Given the description of an element on the screen output the (x, y) to click on. 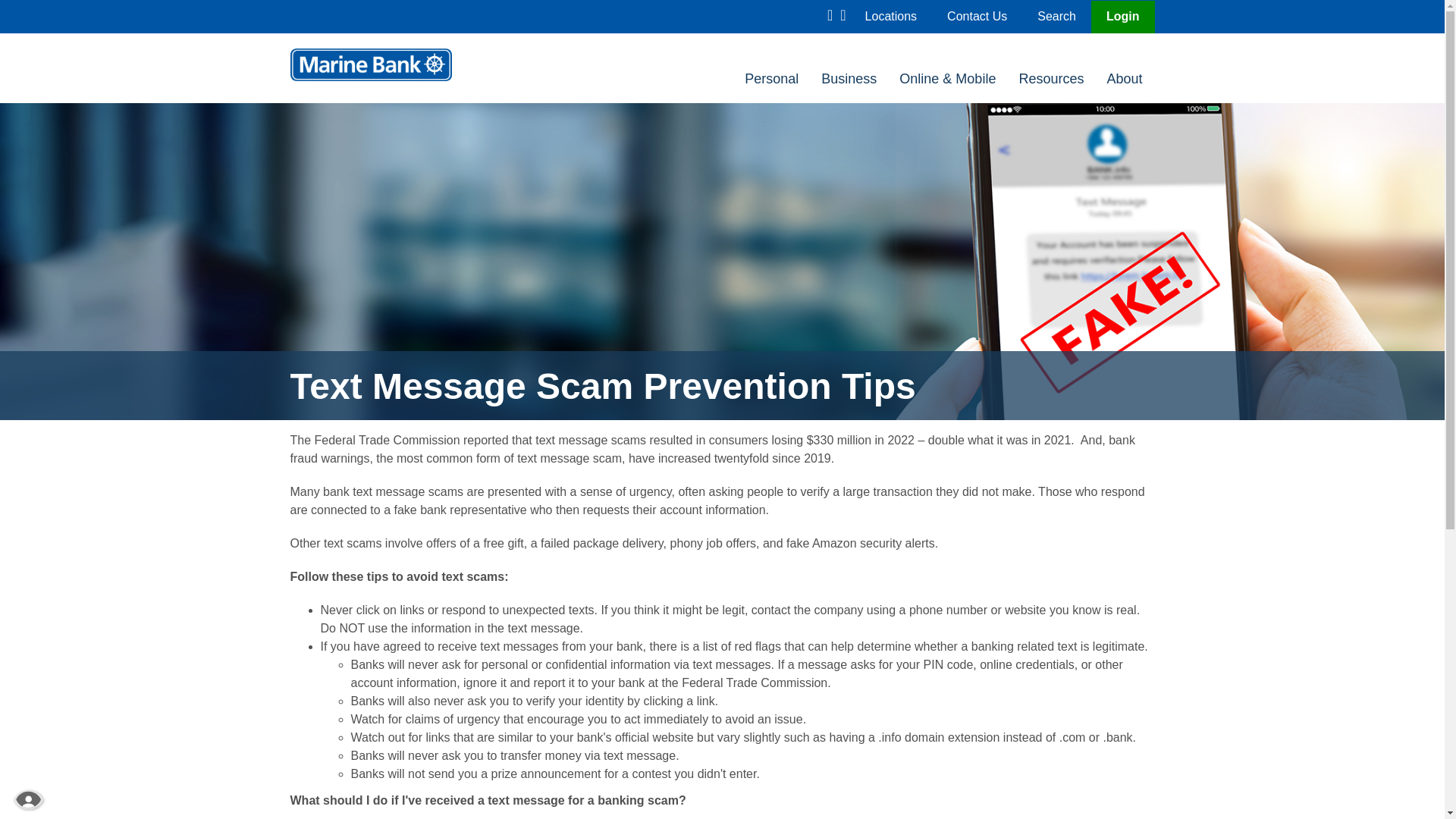
Marine Bank and Trust, Vero Beach, FL (370, 64)
Contact Us (977, 15)
Locations (890, 15)
